Given the description of an element on the screen output the (x, y) to click on. 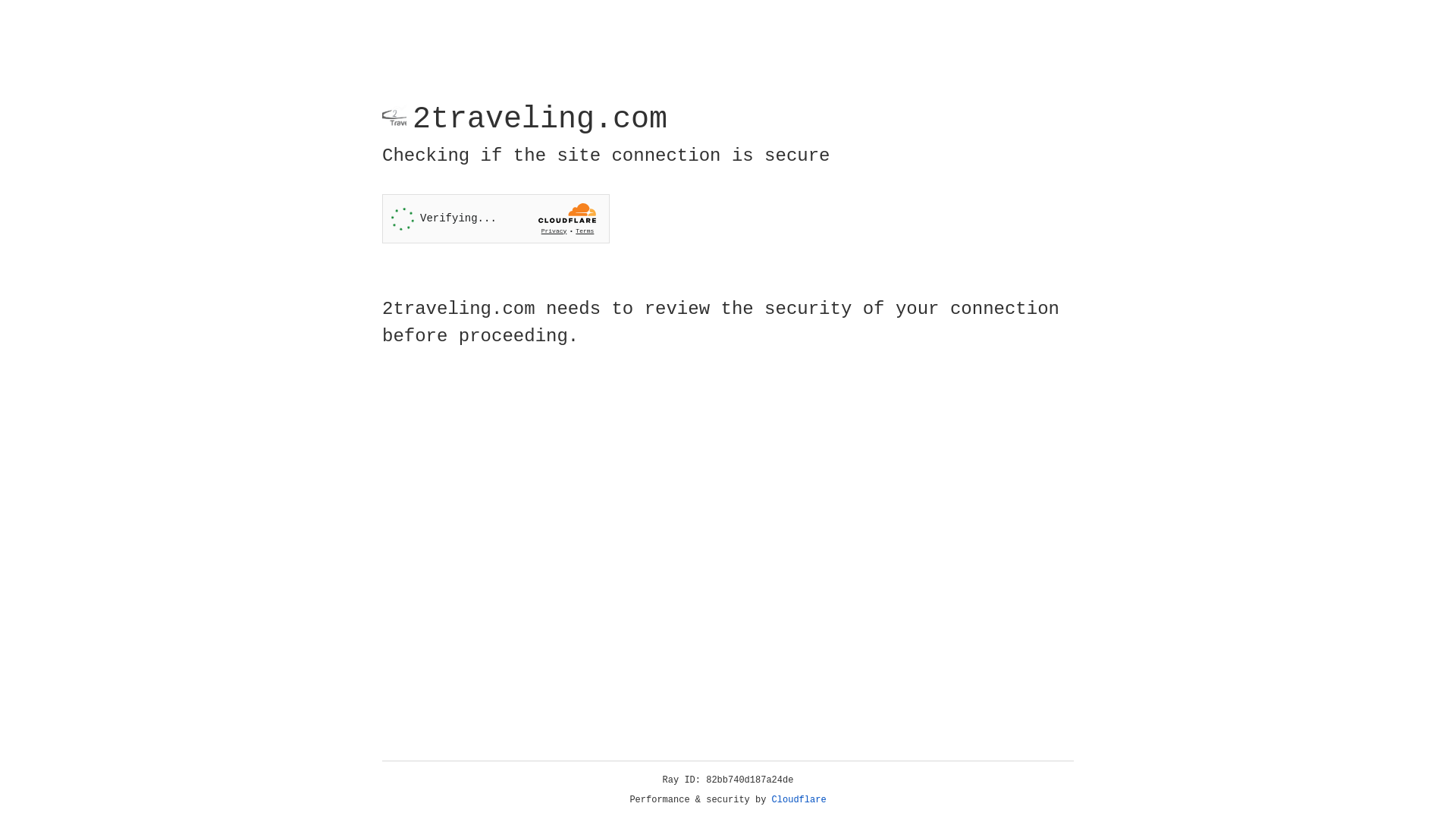
Widget containing a Cloudflare security challenge Element type: hover (495, 218)
Cloudflare Element type: text (798, 799)
